Given the description of an element on the screen output the (x, y) to click on. 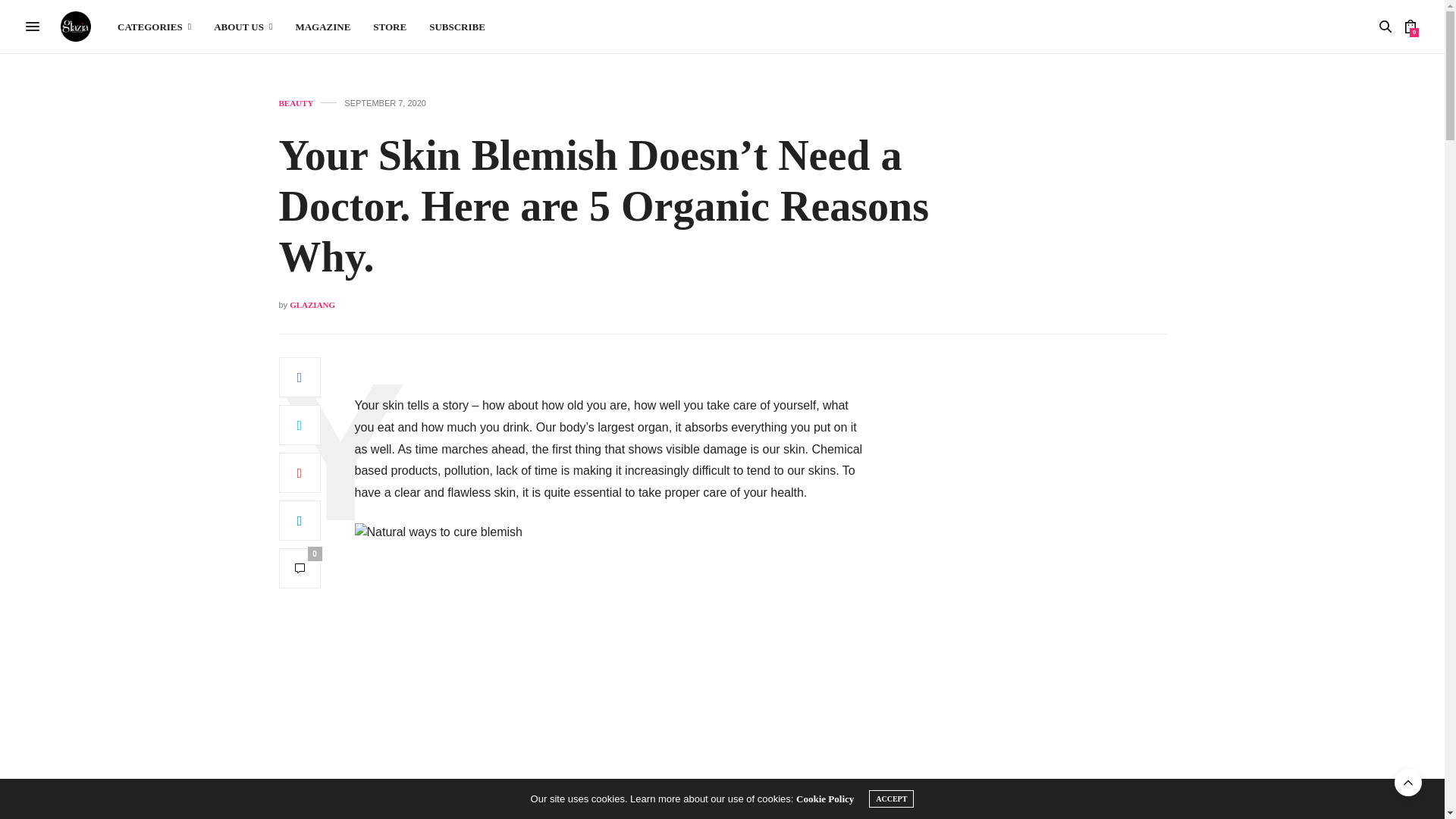
Glazia (75, 26)
Posts by glaziang (311, 304)
